Given the description of an element on the screen output the (x, y) to click on. 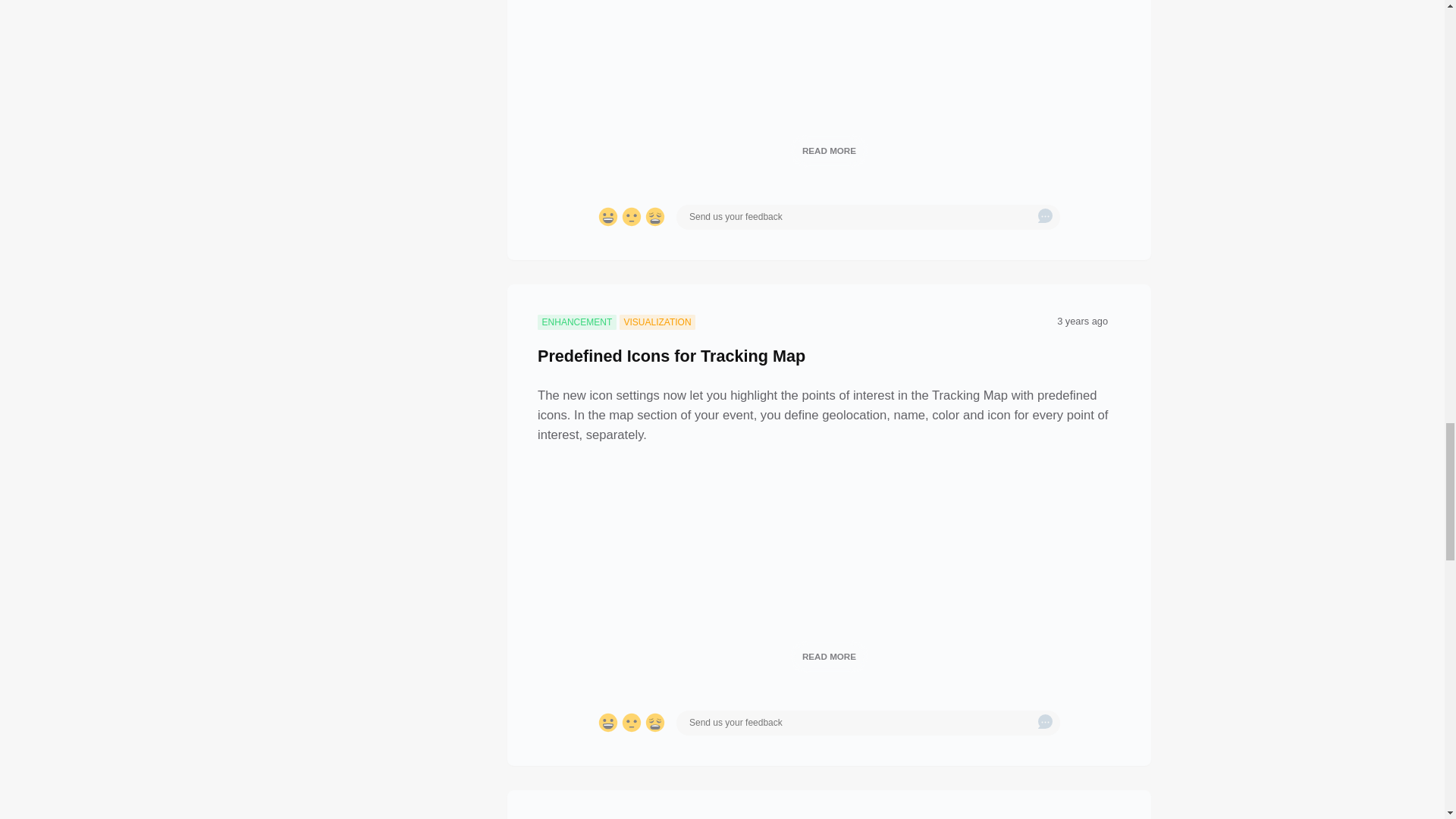
Submit Button (1044, 216)
Submit Button (1044, 722)
